Given the description of an element on the screen output the (x, y) to click on. 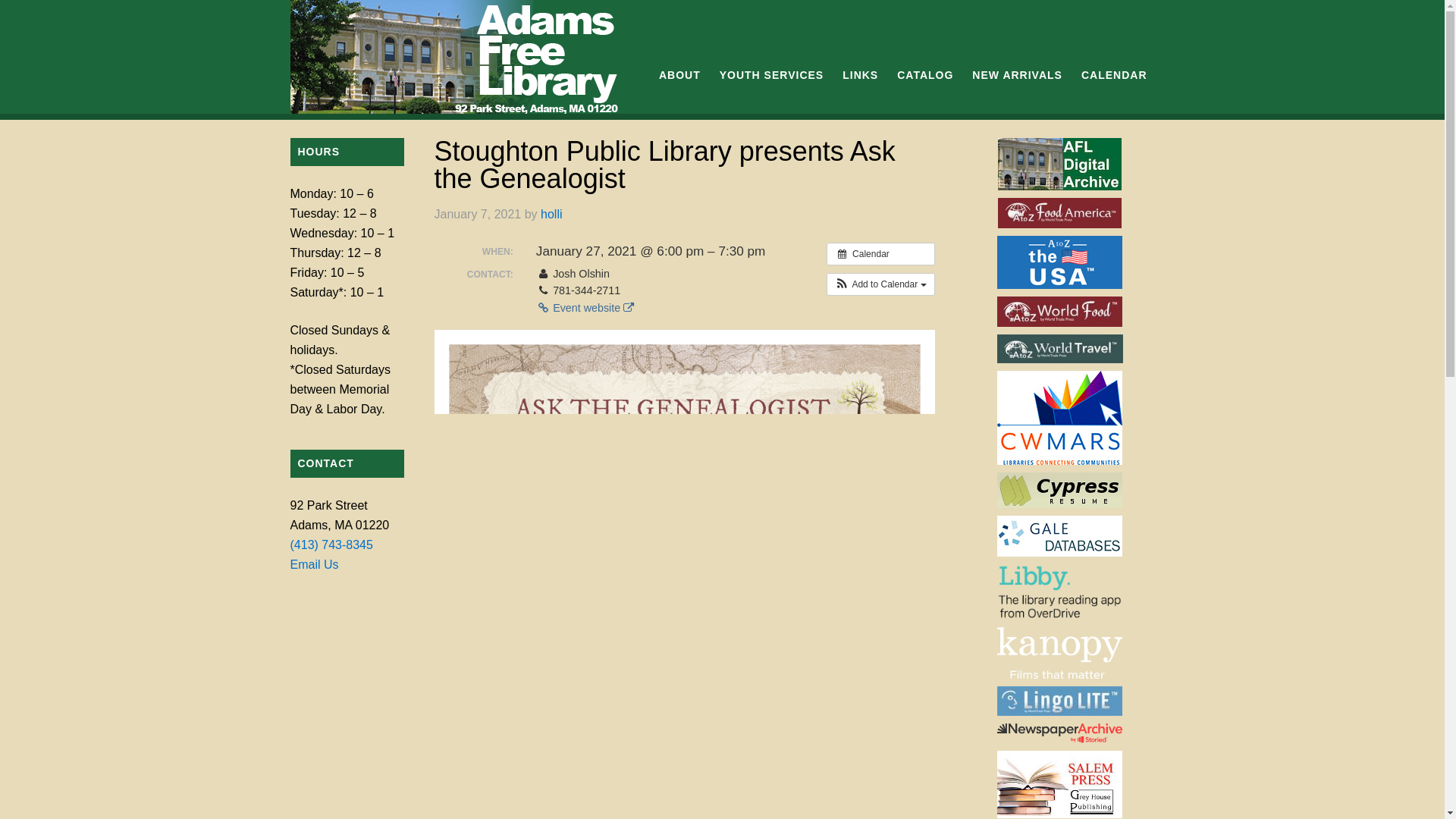
LINKS (859, 74)
View all events (880, 253)
ADAMS FREE LIBRARY (456, 56)
CALENDAR (1114, 74)
YOUTH SERVICES (771, 74)
ABOUT (678, 74)
CATALOG (924, 74)
NEW ARRIVALS (1016, 74)
holli (551, 214)
